Given the description of an element on the screen output the (x, y) to click on. 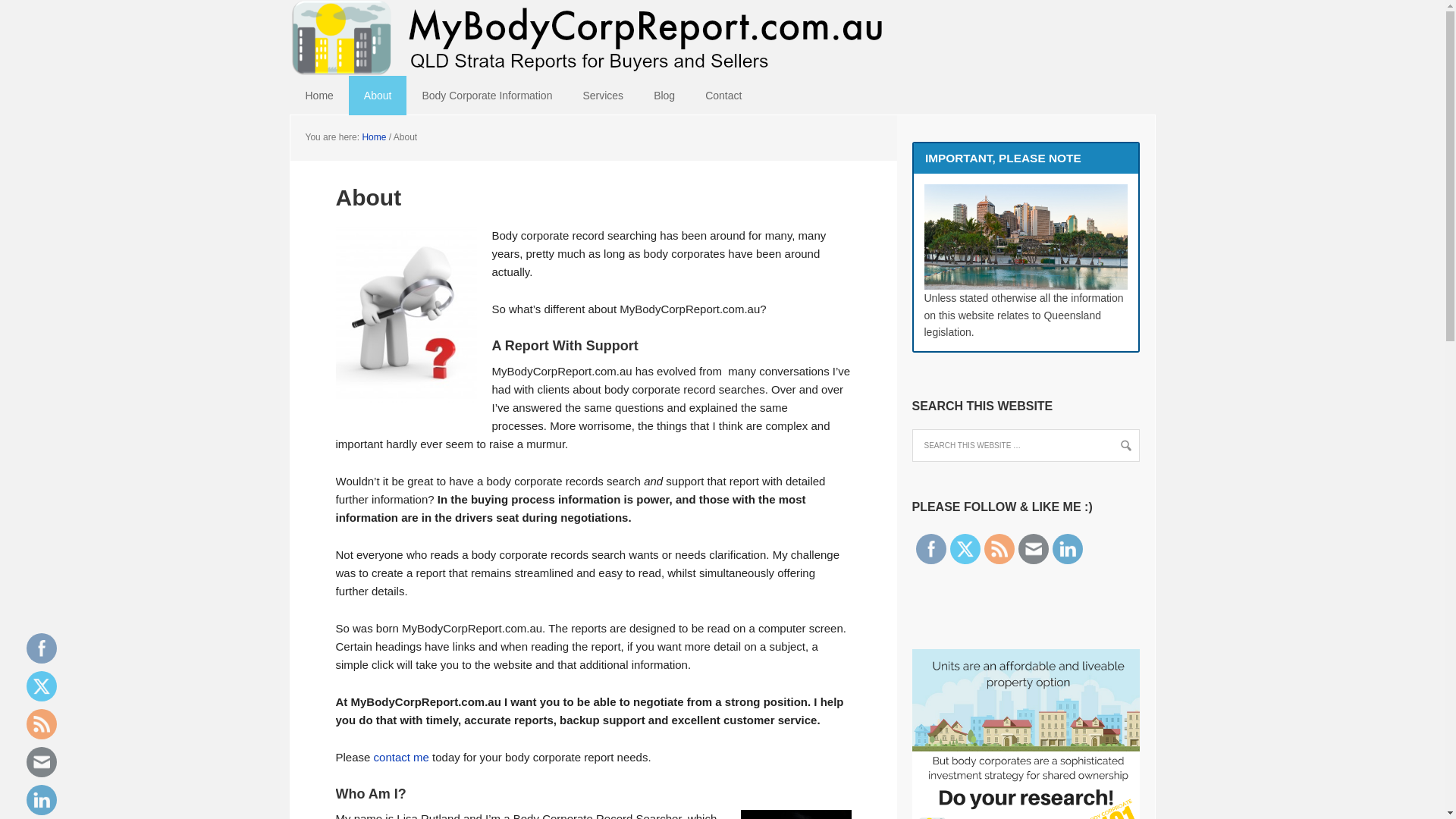
Blog Element type: text (664, 95)
Search Element type: text (31, 17)
Follow by Email Element type: hover (1033, 548)
MyBodyCorpReport.com.au Element type: text (721, 14)
Facebook Element type: hover (41, 648)
Facebook Element type: hover (930, 548)
RSS Element type: hover (41, 723)
Twitter Element type: hover (41, 685)
Home Element type: text (373, 136)
contact me Element type: text (401, 756)
Contact Element type: text (723, 95)
Twitter Element type: hover (965, 549)
About Element type: text (377, 95)
Body Corporate Information Element type: text (486, 95)
Services Element type: text (602, 95)
Home Element type: text (318, 95)
RSS Element type: hover (998, 548)
Follow by Email Element type: hover (41, 761)
